Given the description of an element on the screen output the (x, y) to click on. 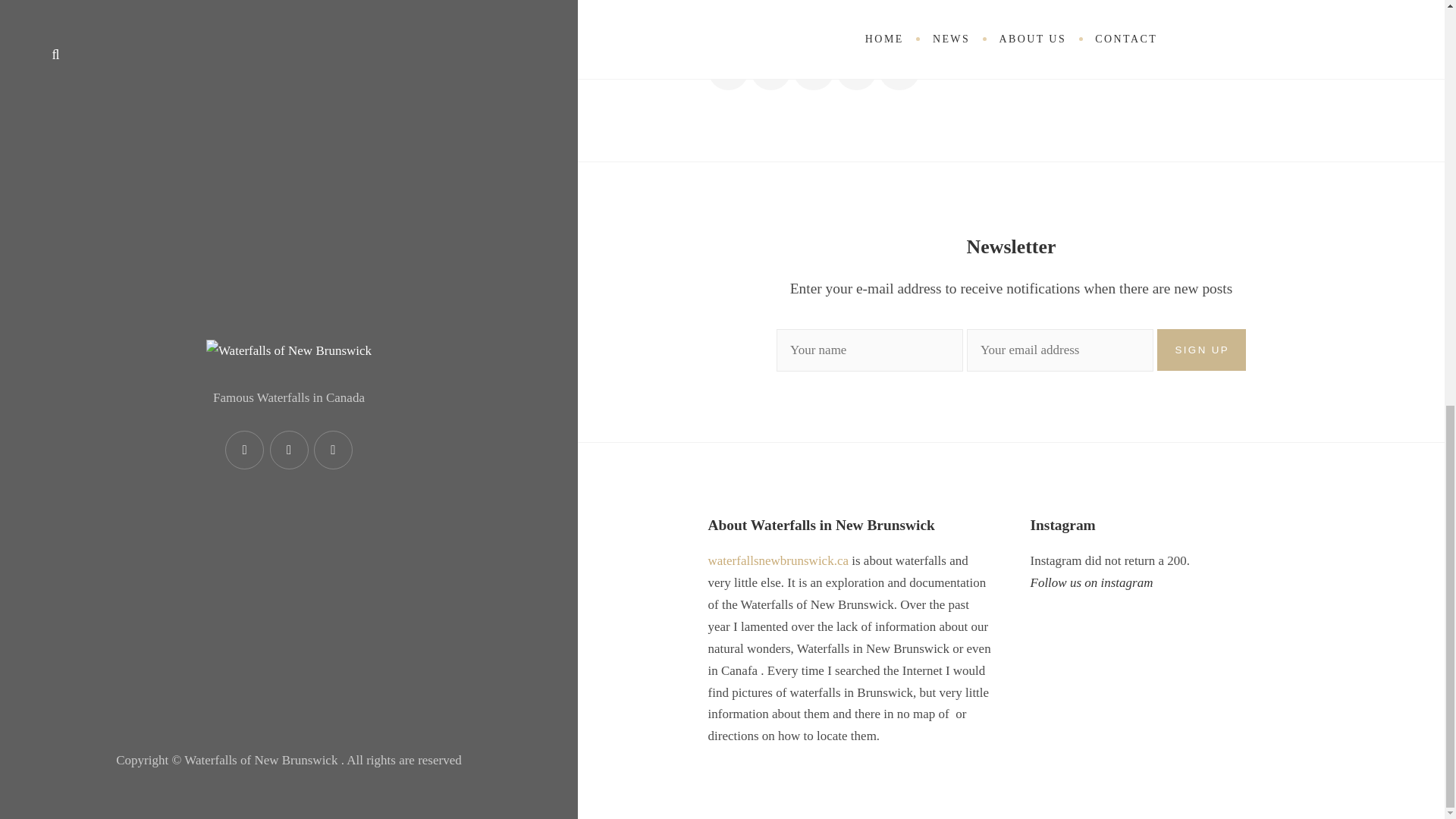
Sign up (1201, 350)
Share on Tumblr (898, 69)
Follow us on instagram (1091, 582)
Share on Google Plus (812, 69)
Pin It (855, 69)
Sign up (1201, 350)
Share on Facebook (727, 69)
Tweet It (770, 69)
waterfallsnewbrunswick.ca (777, 560)
